Given the description of an element on the screen output the (x, y) to click on. 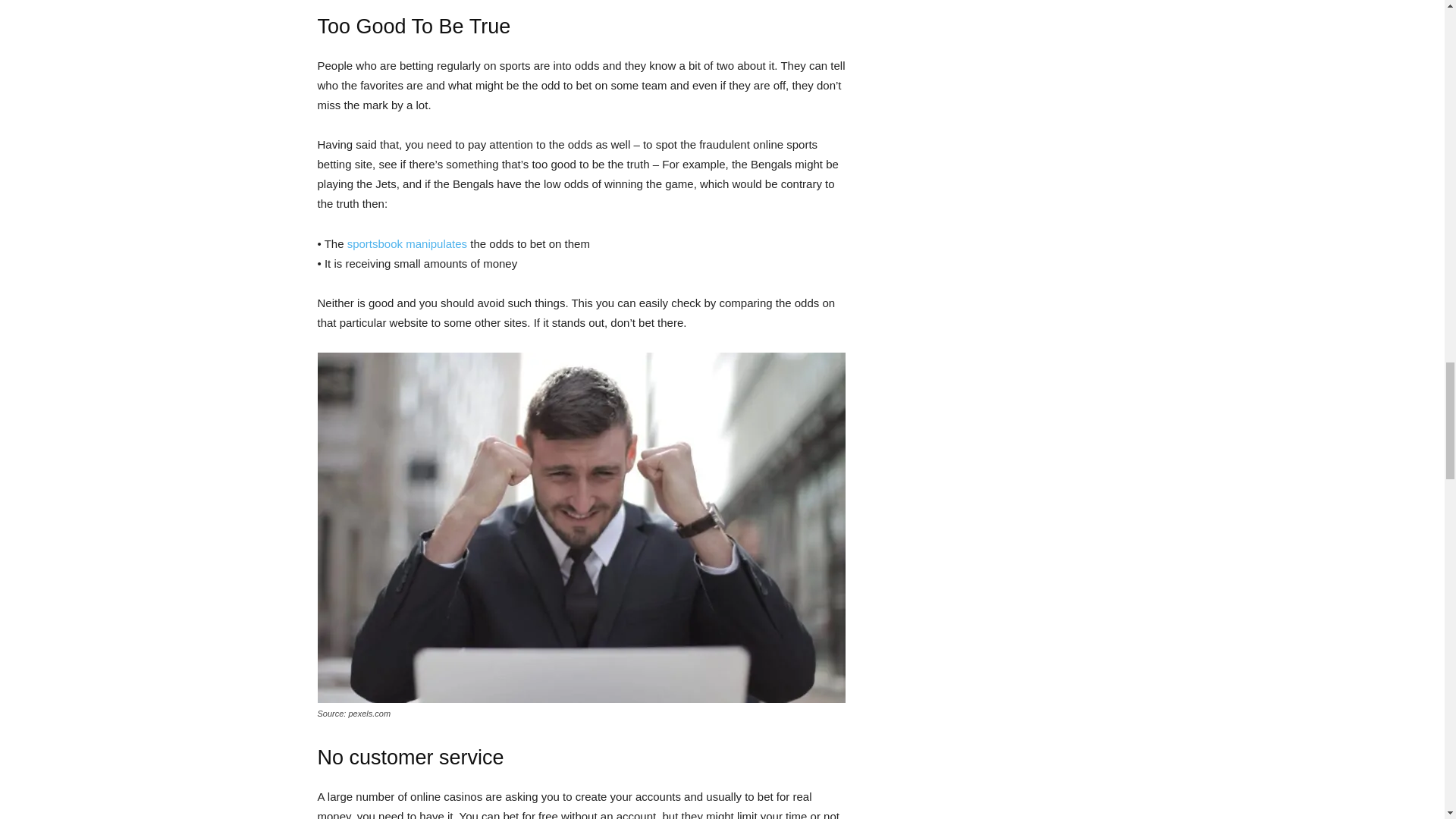
sportsbook manipulates (407, 243)
